Given the description of an element on the screen output the (x, y) to click on. 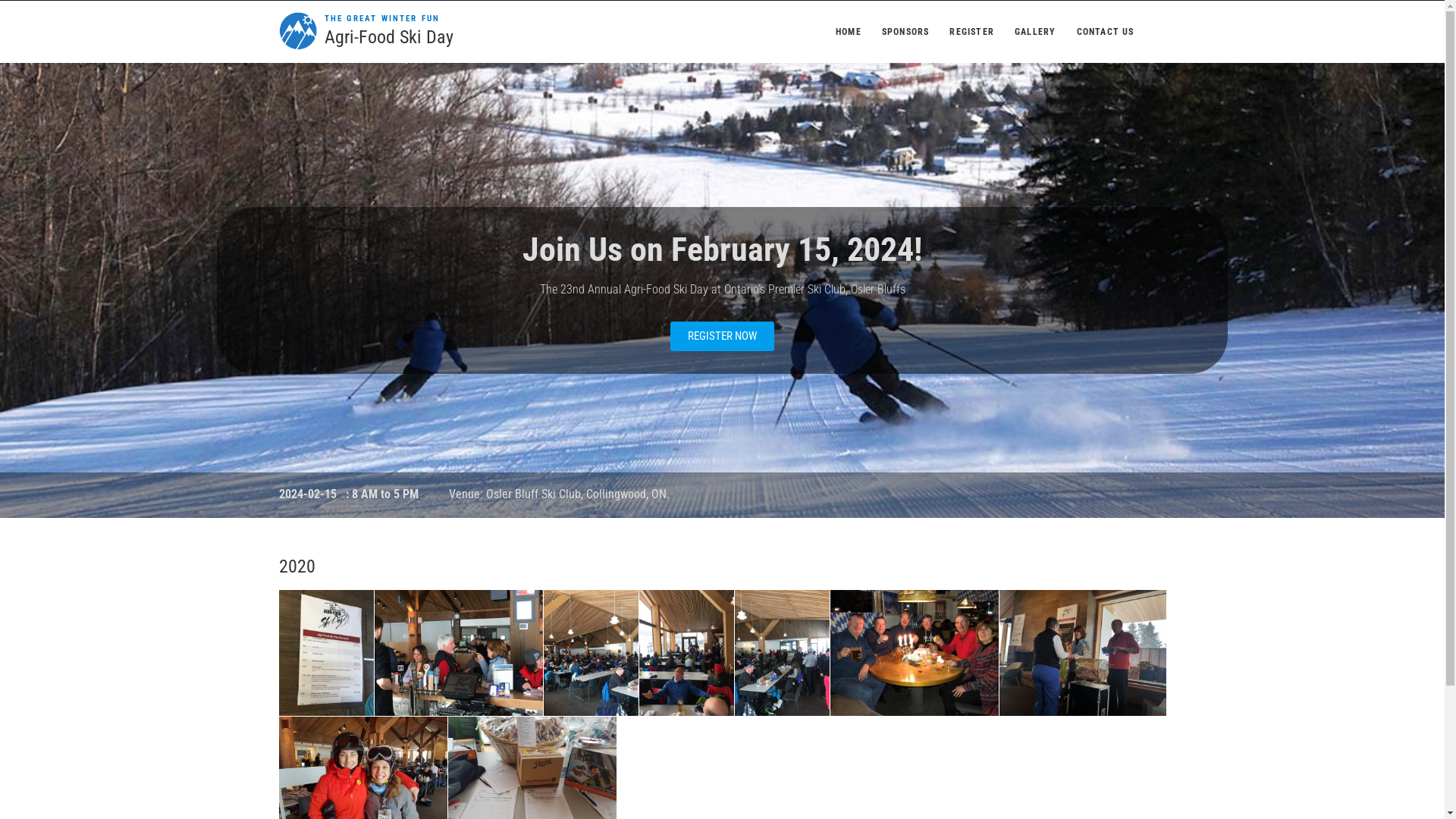
agri-food-ski-day-2020-3 Element type: hover (589, 652)
REGISTER Element type: text (971, 31)
agri-food-ski-day-2020-6 Element type: hover (913, 652)
SPONSORS Element type: text (905, 31)
Agri-Food Ski Day Element type: text (388, 37)
Join Us on February 15, 2024! Element type: text (722, 249)
agri-food-ski-day-2020-2 Element type: hover (458, 652)
REGISTER NOW Element type: text (722, 336)
GALLERY Element type: text (1034, 31)
HOME Element type: text (848, 31)
CONTACT US Element type: text (1105, 31)
agri-food-ski-day-2020-1 Element type: hover (326, 652)
agri-food-ski-day-2020-7 Element type: hover (1082, 652)
agri-food-ski-day-2020-5 Element type: hover (781, 652)
agri-food-ski-day-2020-4 Element type: hover (685, 652)
